Given the description of an element on the screen output the (x, y) to click on. 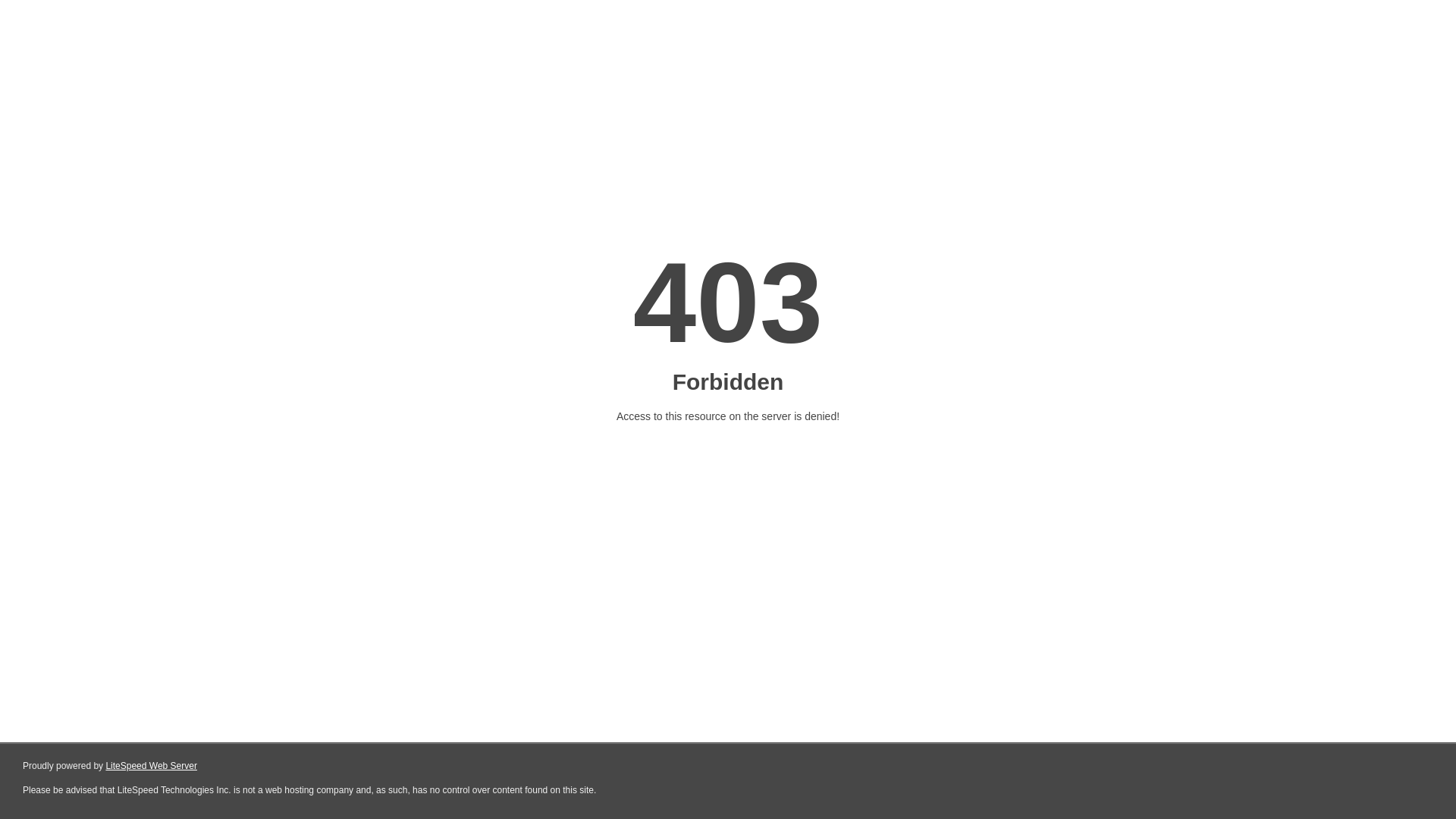
LiteSpeed Web Server Element type: text (151, 765)
